Given the description of an element on the screen output the (x, y) to click on. 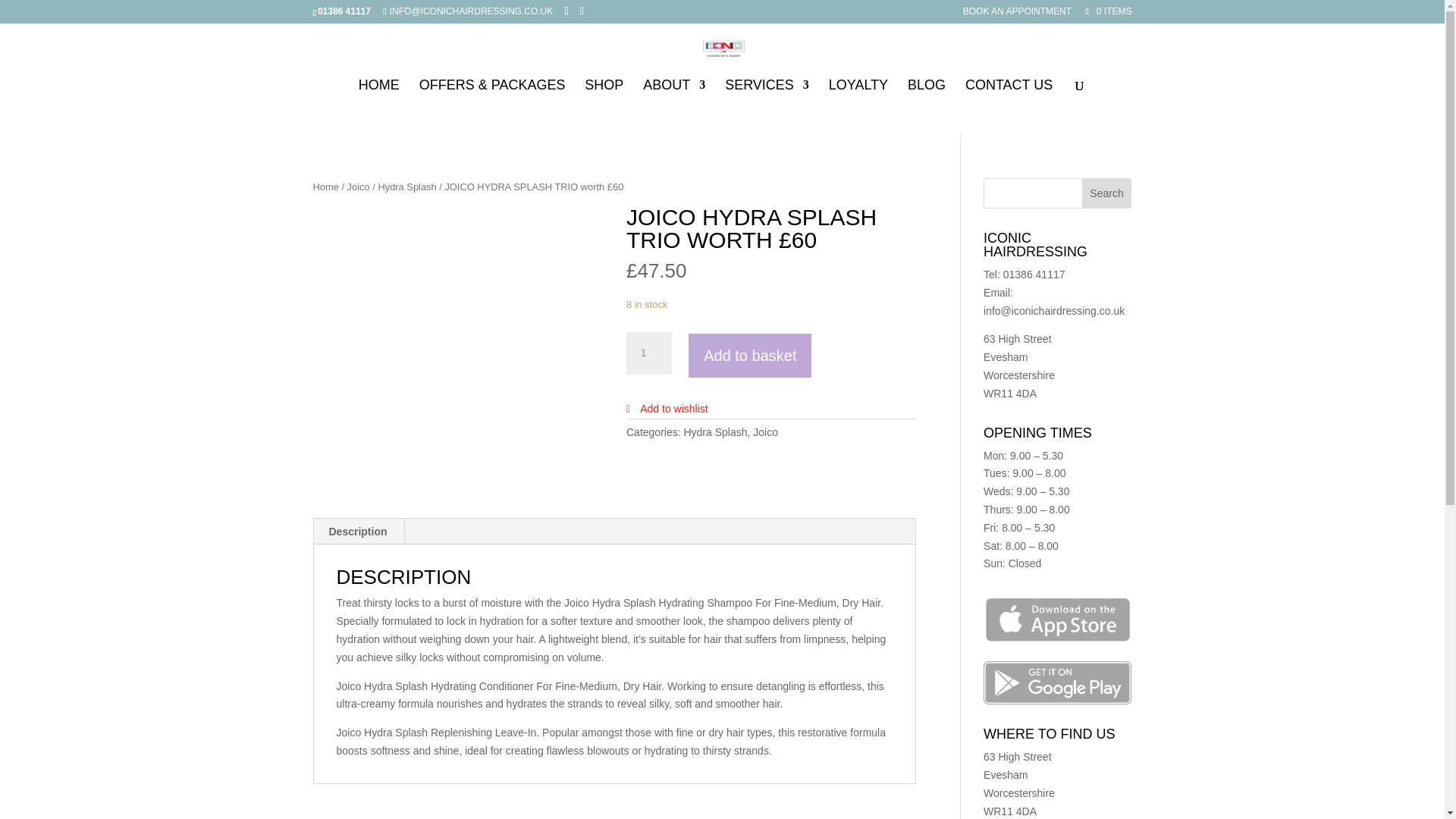
0 ITEMS (1107, 10)
Add to wishlist (666, 408)
BOOK AN APPOINTMENT (1016, 14)
LOYALTY (858, 89)
Hydra Splash (406, 186)
ABOUT (673, 89)
Search (1106, 193)
Home (325, 186)
CONTACT US (1008, 89)
HOME (378, 89)
1 (648, 353)
BLOG (925, 89)
Add to basket (749, 356)
Joico (358, 186)
SHOP (604, 89)
